Given the description of an element on the screen output the (x, y) to click on. 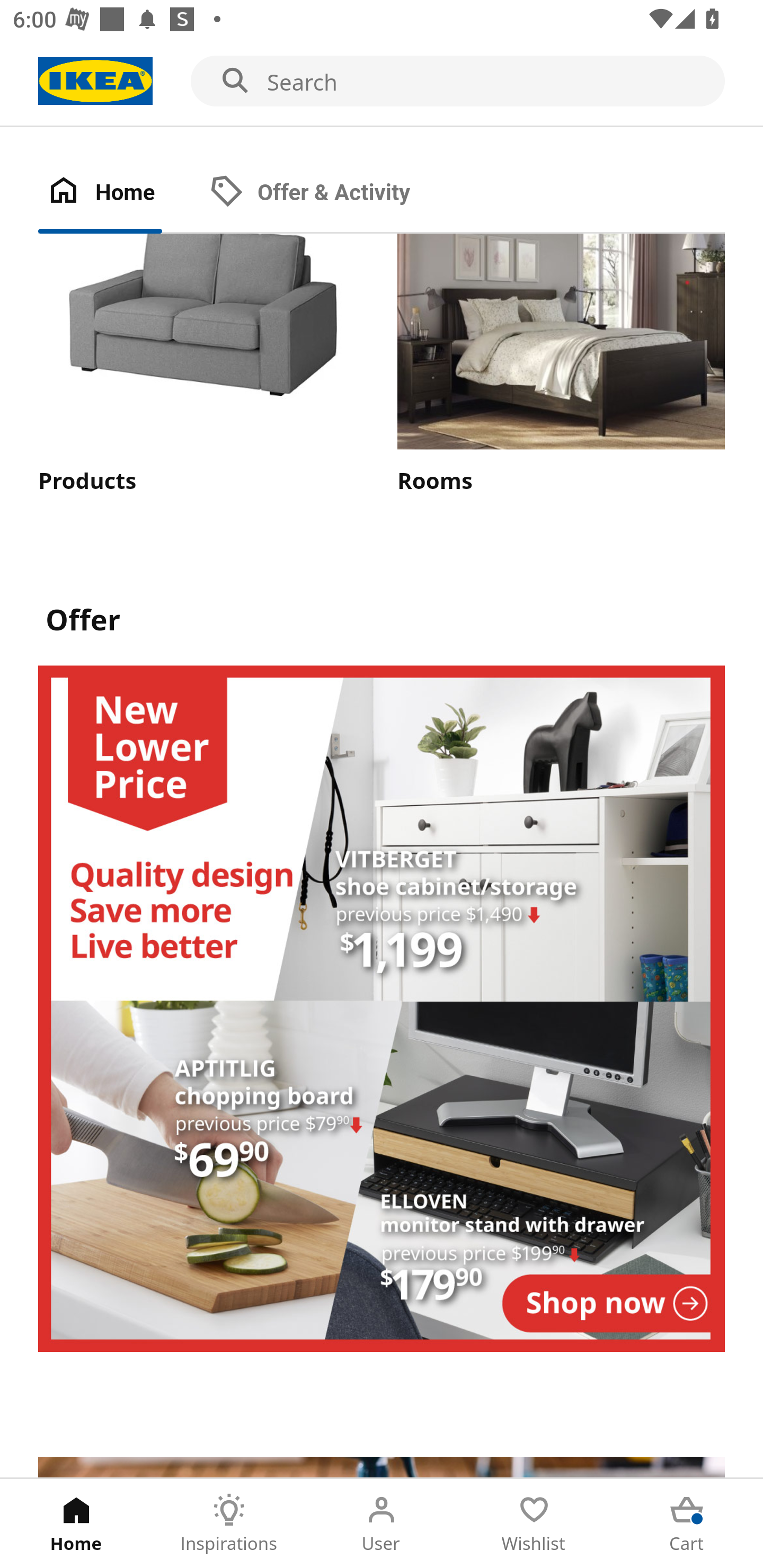
Search (381, 81)
Home
Tab 1 of 2 (118, 192)
Offer & Activity
Tab 2 of 2 (327, 192)
Products (201, 365)
Rooms (560, 365)
Home
Tab 1 of 5 (76, 1522)
Inspirations
Tab 2 of 5 (228, 1522)
User
Tab 3 of 5 (381, 1522)
Wishlist
Tab 4 of 5 (533, 1522)
Cart
Tab 5 of 5 (686, 1522)
